Given the description of an element on the screen output the (x, y) to click on. 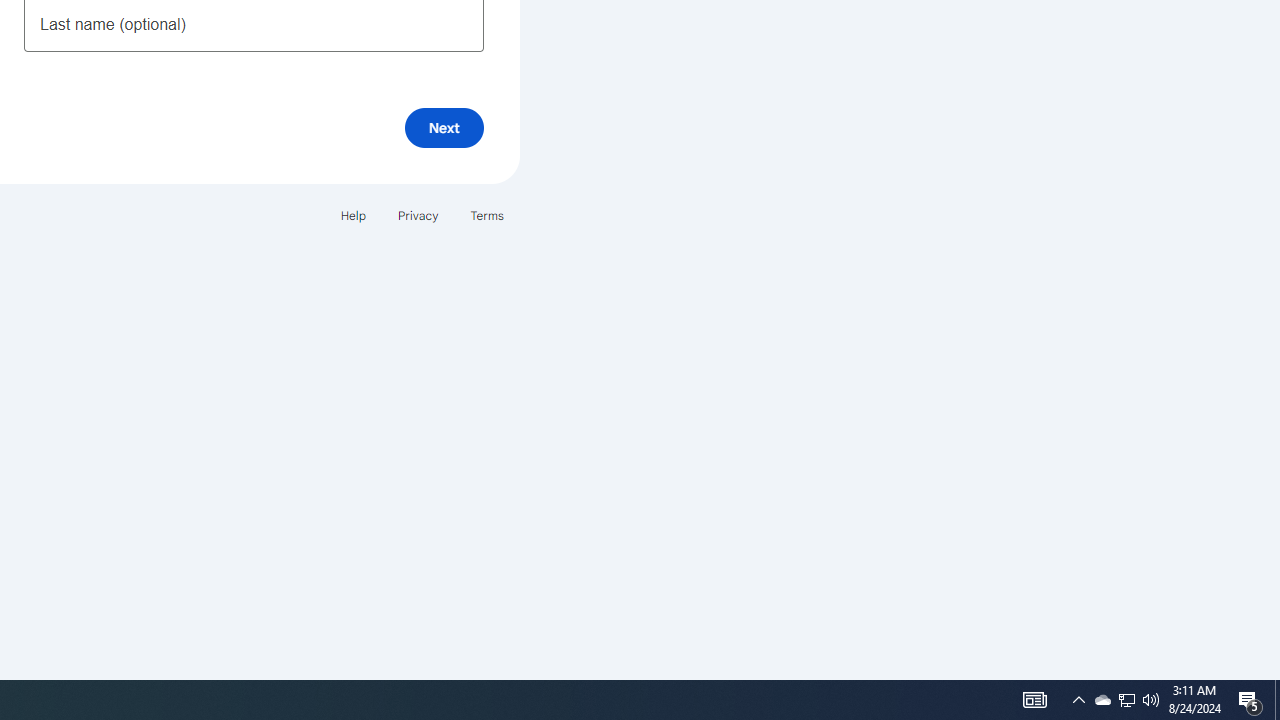
Privacy (417, 214)
Terms (486, 214)
Next (443, 127)
Help (352, 214)
